Given the description of an element on the screen output the (x, y) to click on. 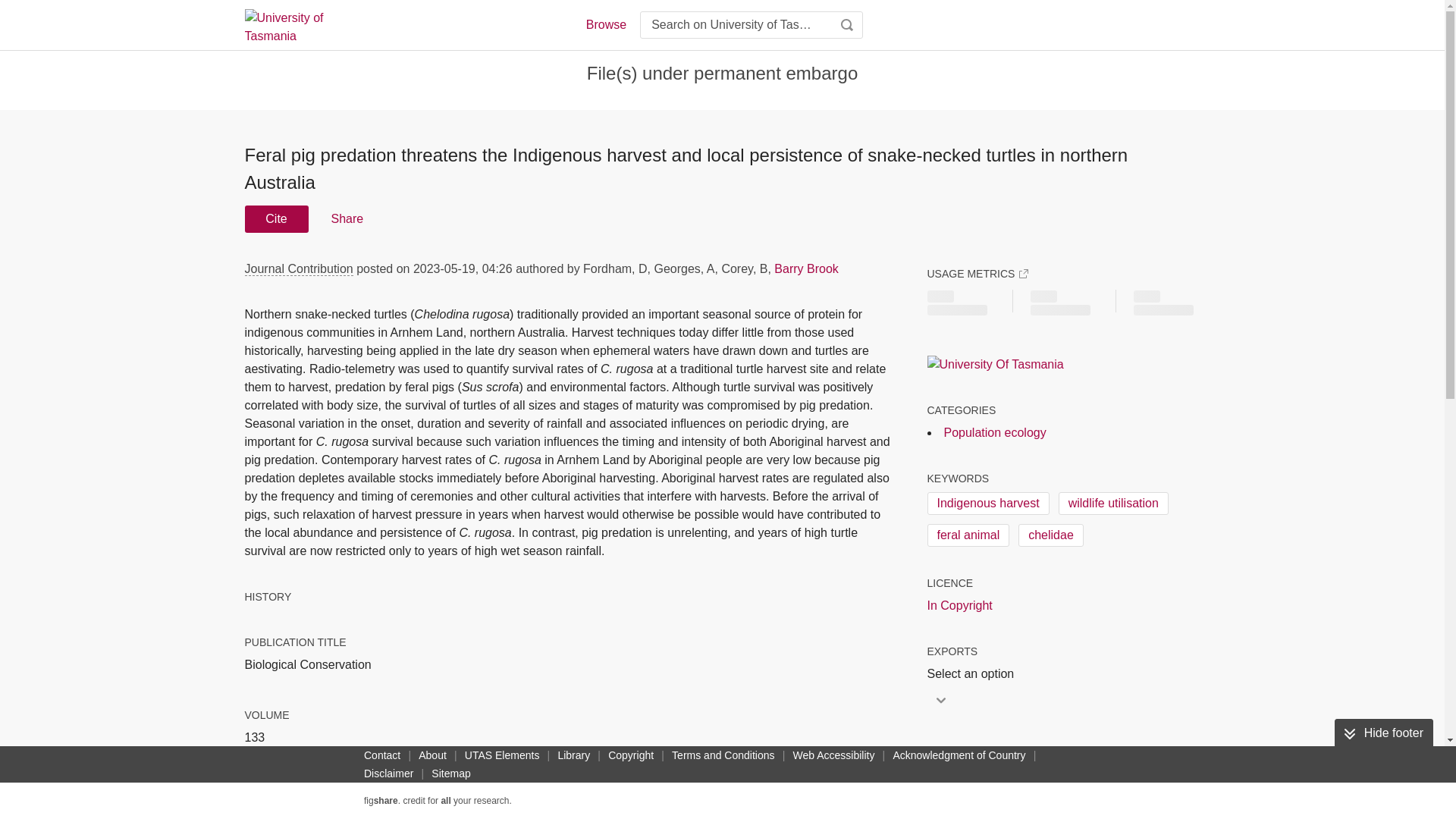
Browse (605, 24)
In Copyright (958, 606)
Barry Brook (806, 268)
Copyright (631, 755)
feral animal (967, 535)
Population ecology (994, 431)
Hide footer (1383, 733)
Library (573, 755)
Acknowledgment of Country (958, 755)
Indigenous harvest (987, 503)
Share (346, 218)
Disclaimer (388, 773)
wildlife utilisation (1113, 503)
USAGE METRICS (976, 273)
Cite (275, 218)
